Given the description of an element on the screen output the (x, y) to click on. 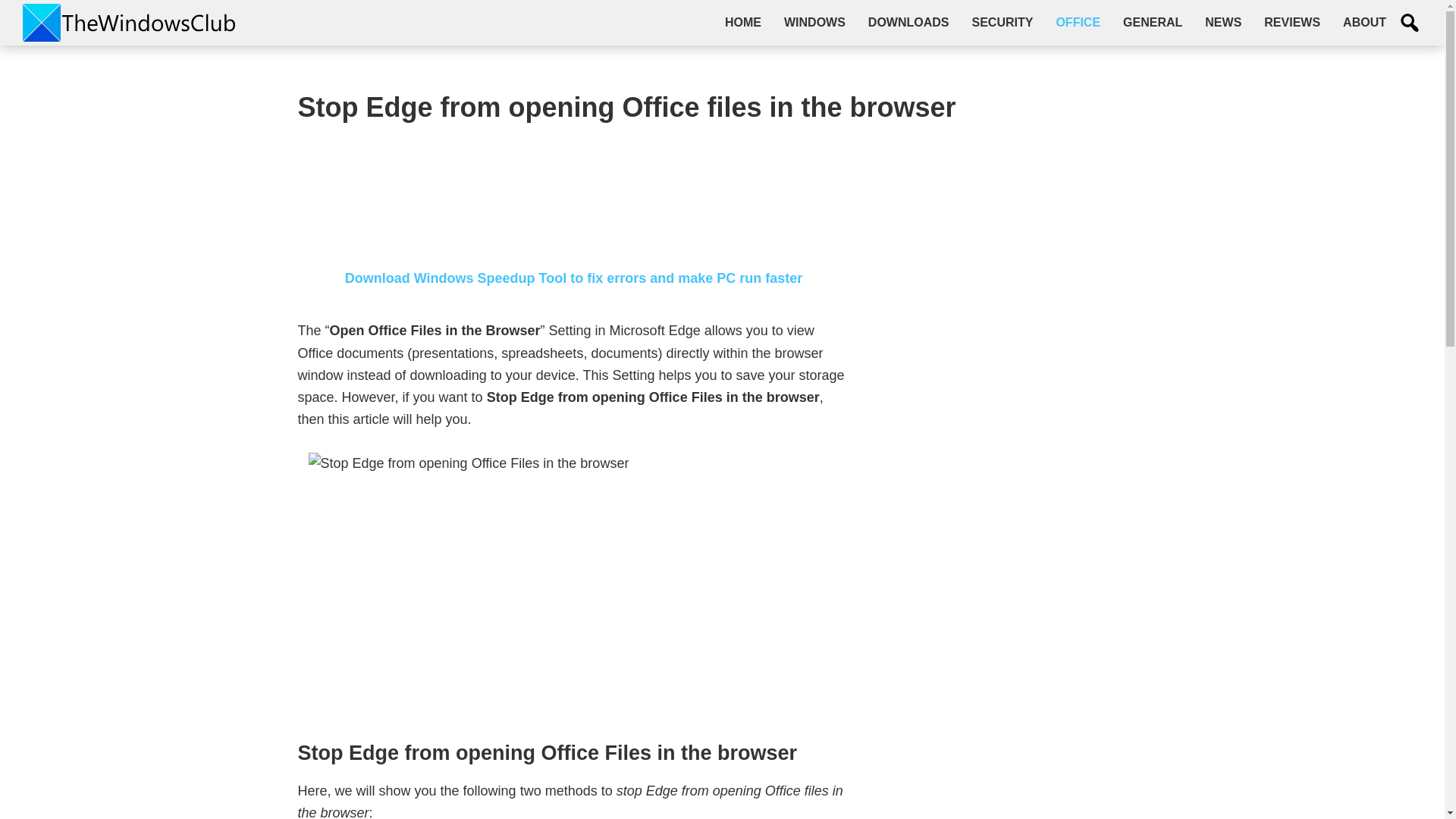
HOME (743, 22)
GENERAL (1152, 22)
Show Search (1409, 22)
OFFICE (1077, 22)
NEWS (1222, 22)
ABOUT (1364, 22)
WINDOWS (815, 22)
REVIEWS (1292, 22)
